Given the description of an element on the screen output the (x, y) to click on. 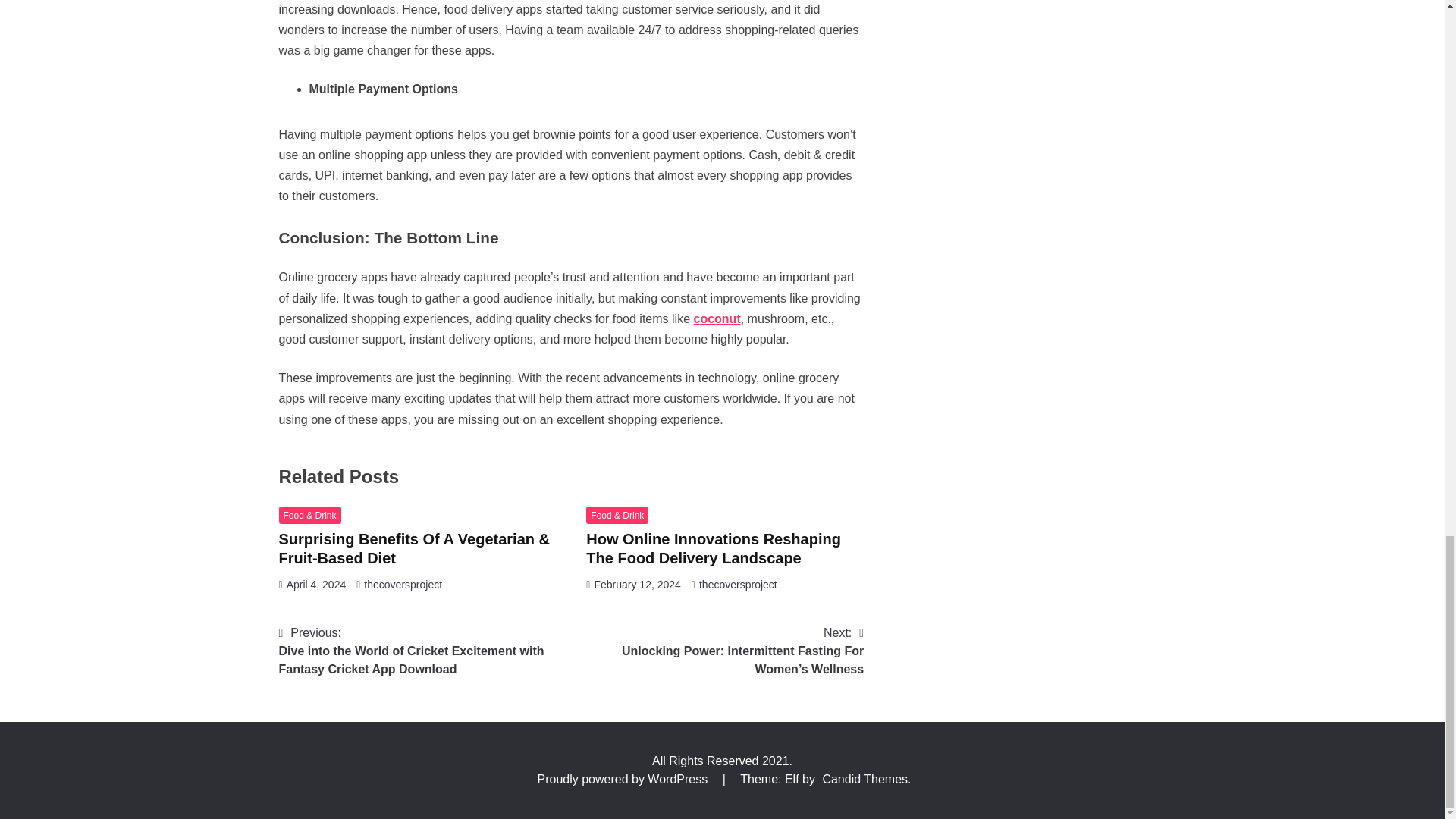
Proudly powered by WordPress (623, 779)
April 4, 2024 (316, 584)
February 12, 2024 (636, 584)
thecoversproject (403, 584)
thecoversproject (737, 584)
coconut (716, 318)
How Online Innovations Reshaping The Food Delivery Landscape (713, 548)
Candid Themes (864, 779)
